Given the description of an element on the screen output the (x, y) to click on. 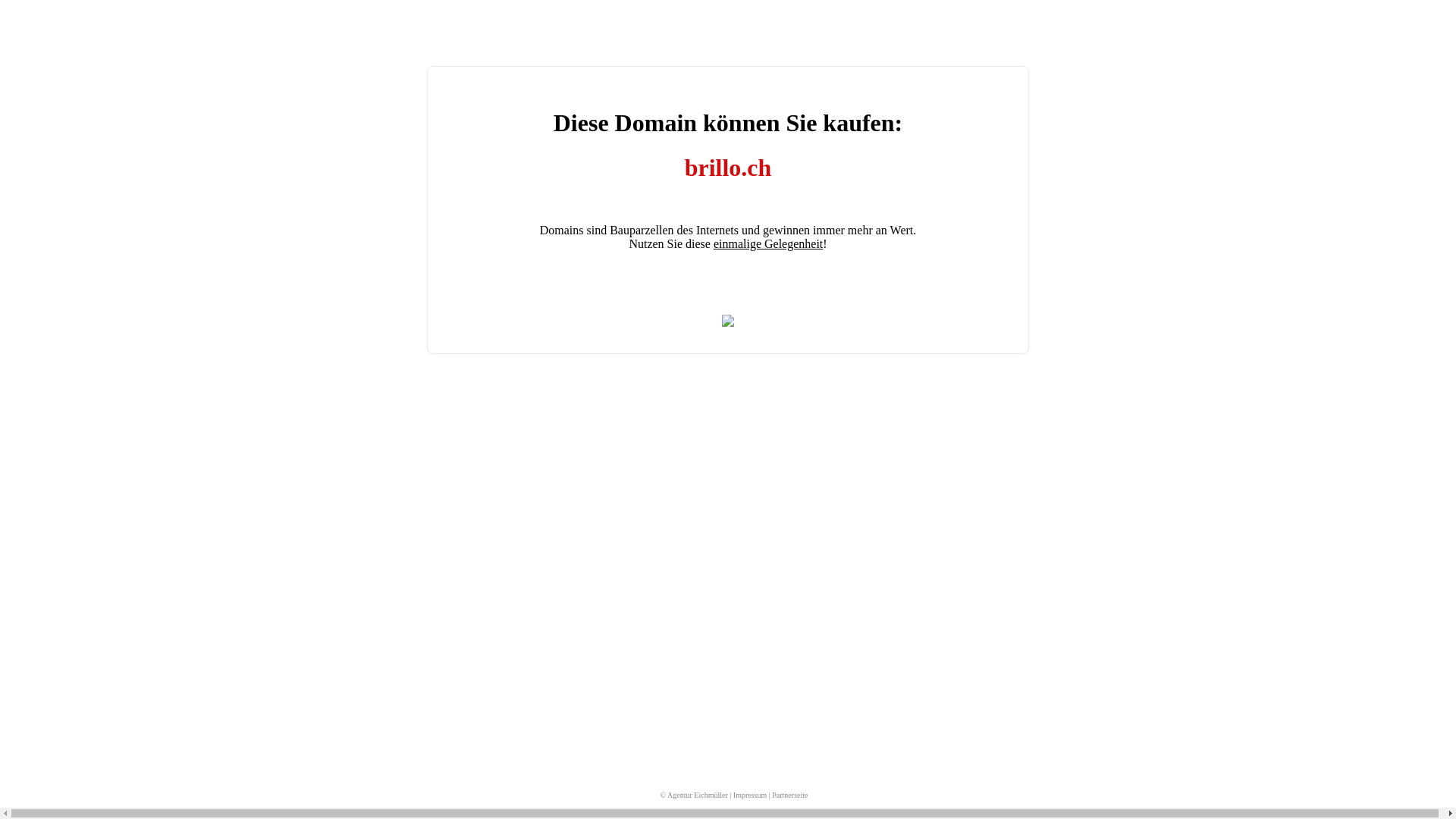
brillo.ch Element type: text (727, 167)
Impressum Element type: text (749, 794)
Partnerseite Element type: text (789, 794)
